Given the description of an element on the screen output the (x, y) to click on. 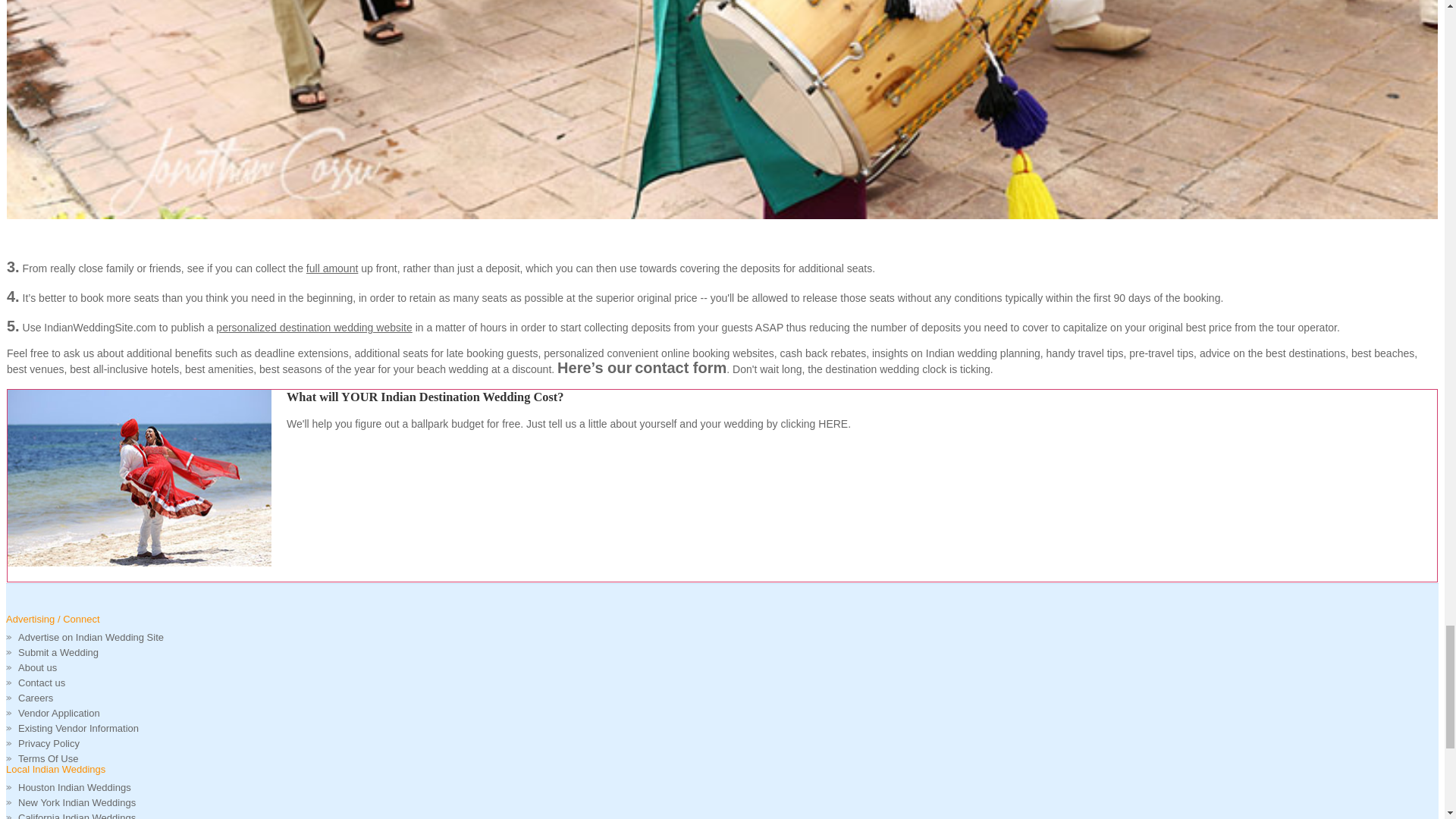
destination indian wedding (138, 477)
